Given the description of an element on the screen output the (x, y) to click on. 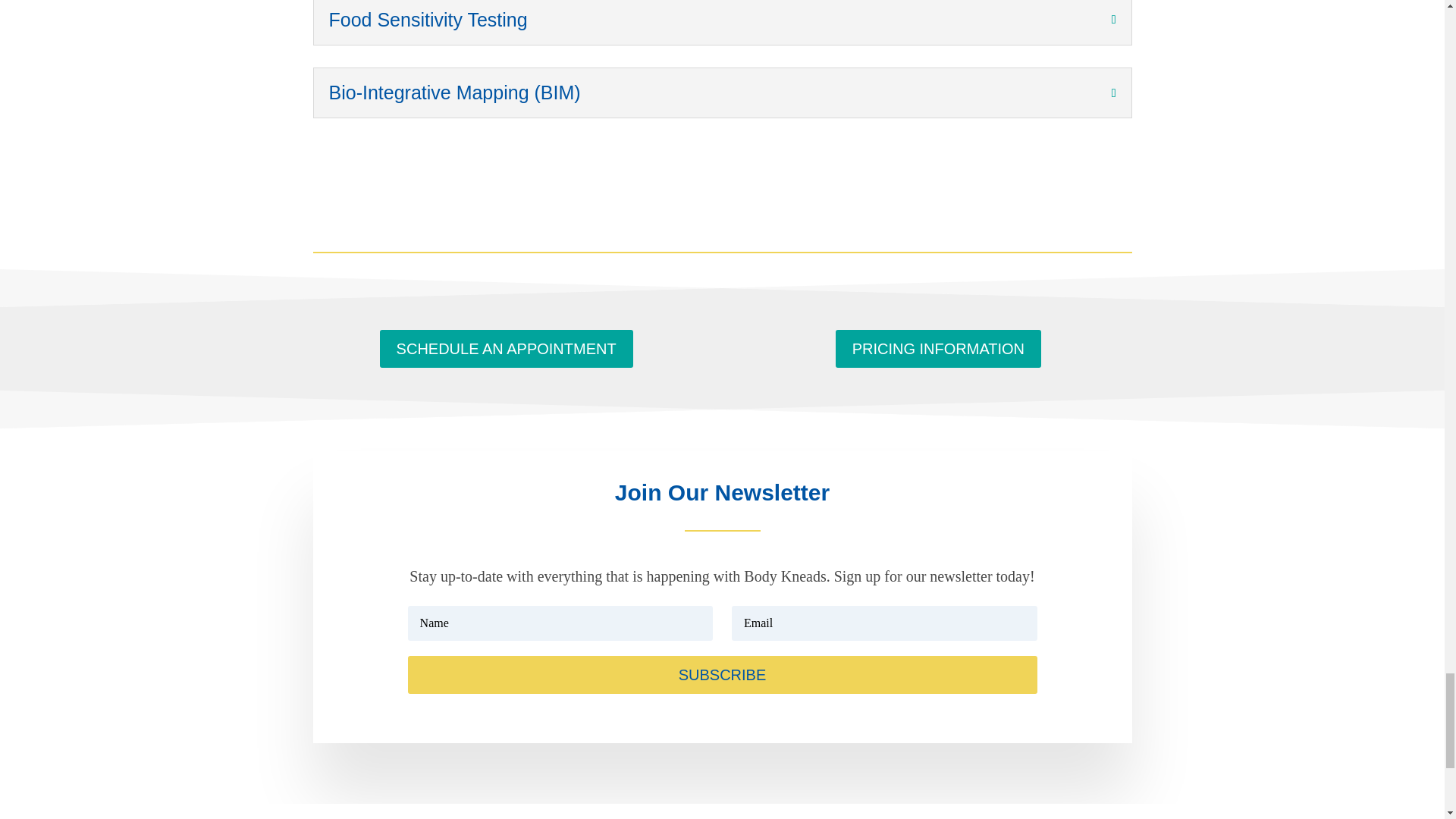
SUBSCRIBE (721, 674)
SCHEDULE AN APPOINTMENT (506, 348)
PRICING INFORMATION (938, 348)
